Given the description of an element on the screen output the (x, y) to click on. 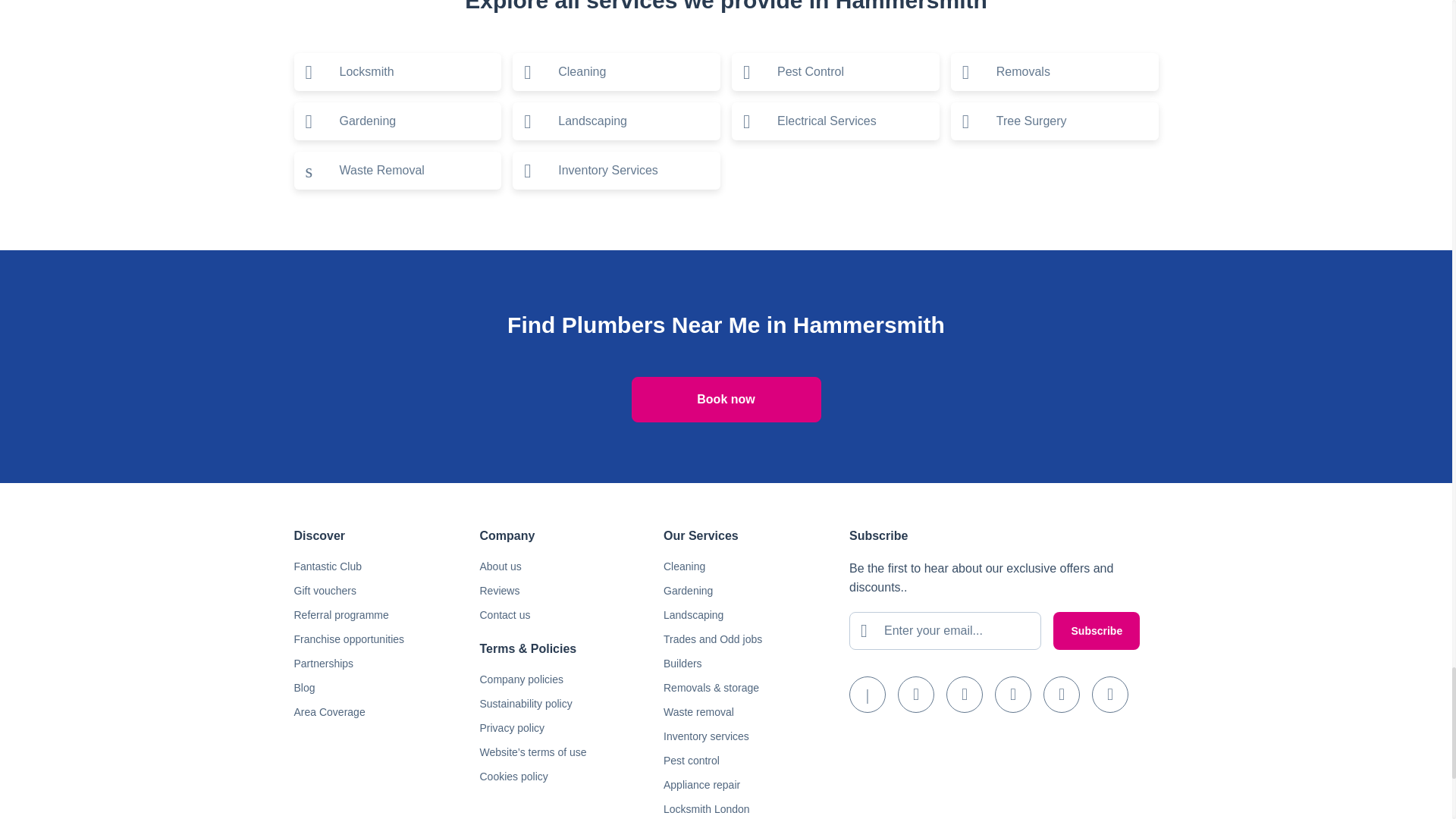
Subscribe (1096, 630)
